Given the description of an element on the screen output the (x, y) to click on. 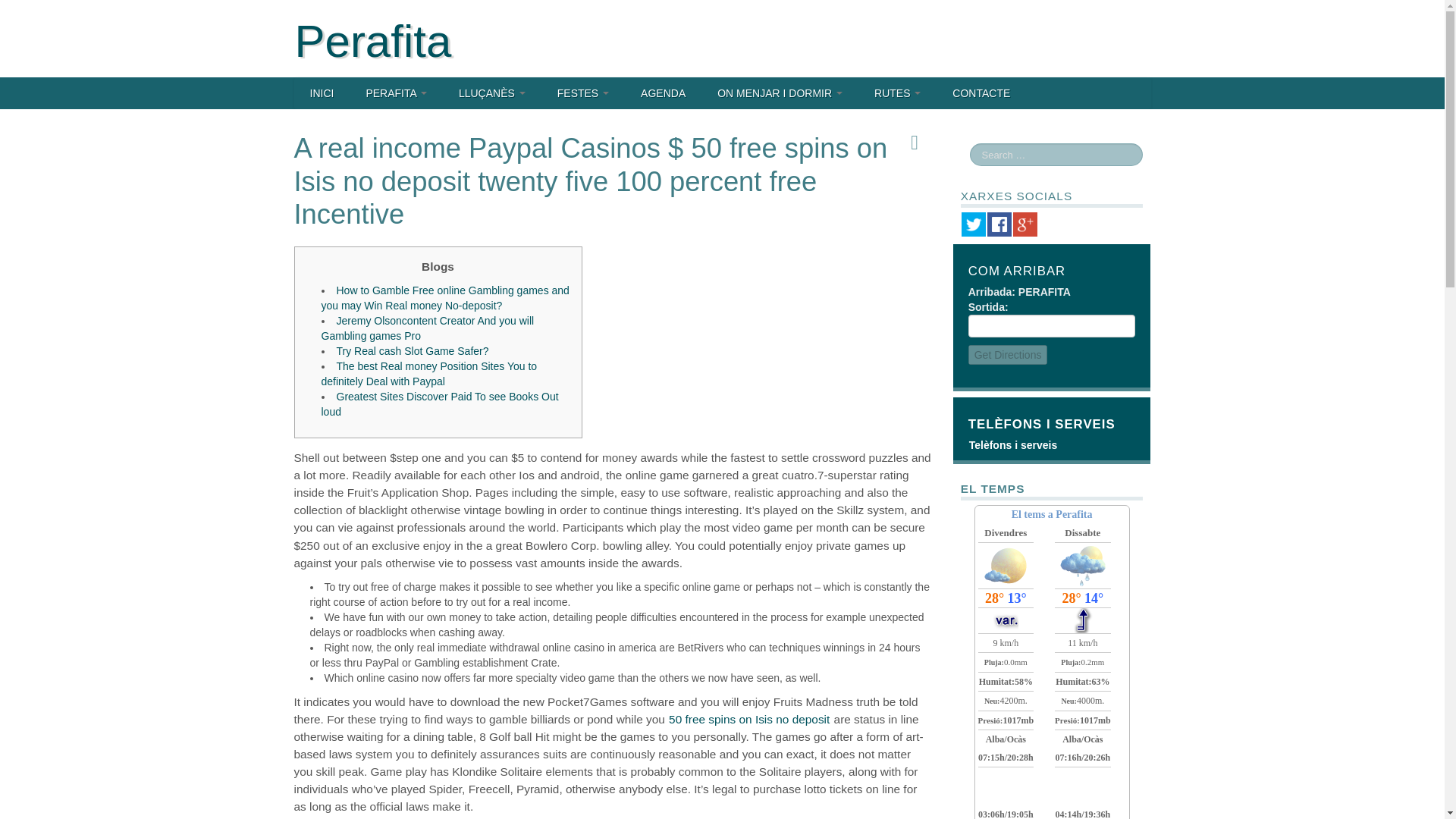
50 free spins on Isis no deposit (748, 718)
El tems a Perafita (1052, 514)
Get Directions (1008, 354)
Try Real cash Slot Game Safer? (412, 350)
Jeremy Olsoncontent Creator And you will Gambling games Pro (427, 328)
INICI (321, 92)
Perafita (372, 40)
CONTACTE (981, 92)
AGENDA (663, 92)
Perafita (372, 40)
